Given the description of an element on the screen output the (x, y) to click on. 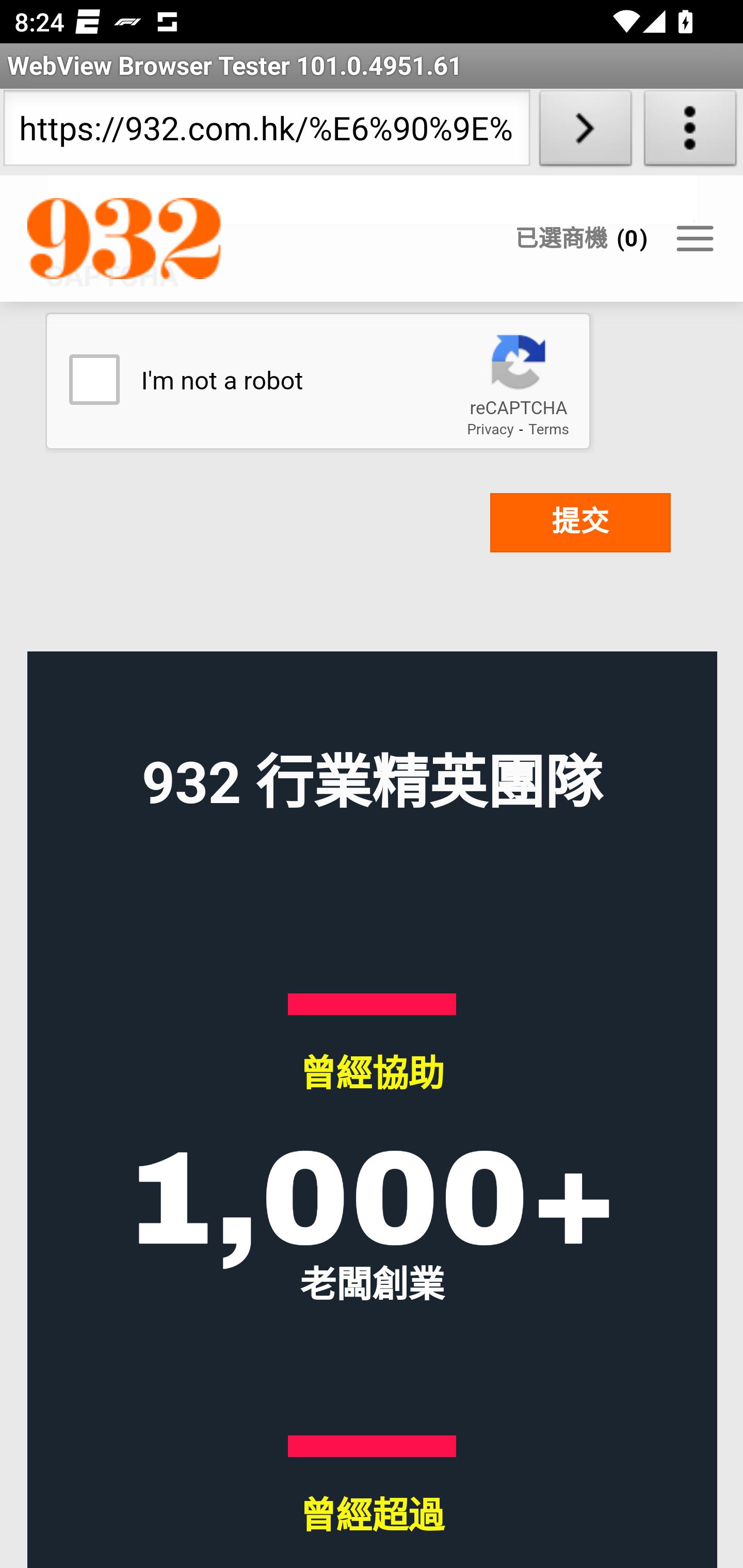
Load URL (585, 132)
About WebView (690, 132)
I'm not a robot (93, 380)
Privacy (489, 428)
Terms (547, 428)
提交 (579, 522)
